Given the description of an element on the screen output the (x, y) to click on. 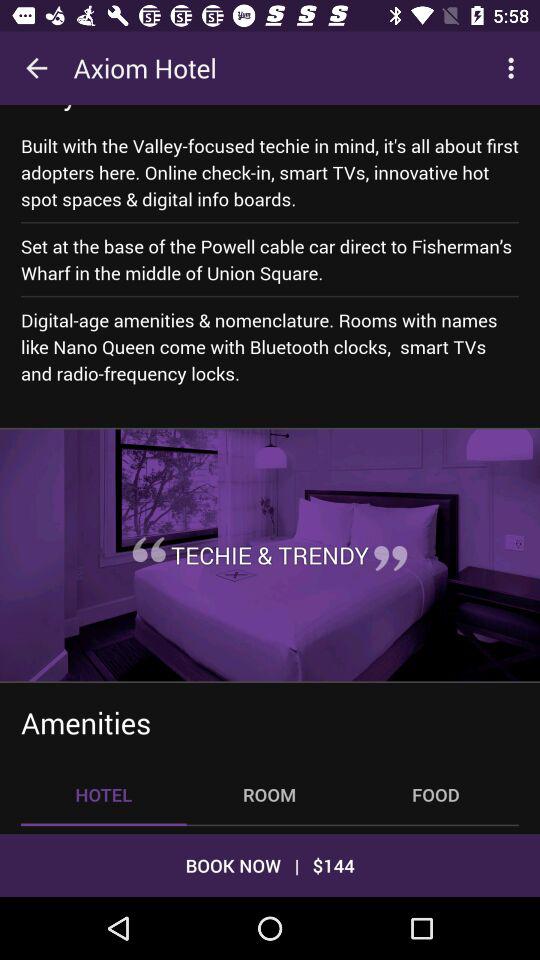
tap icon next to axiom hotel icon (36, 68)
